Given the description of an element on the screen output the (x, y) to click on. 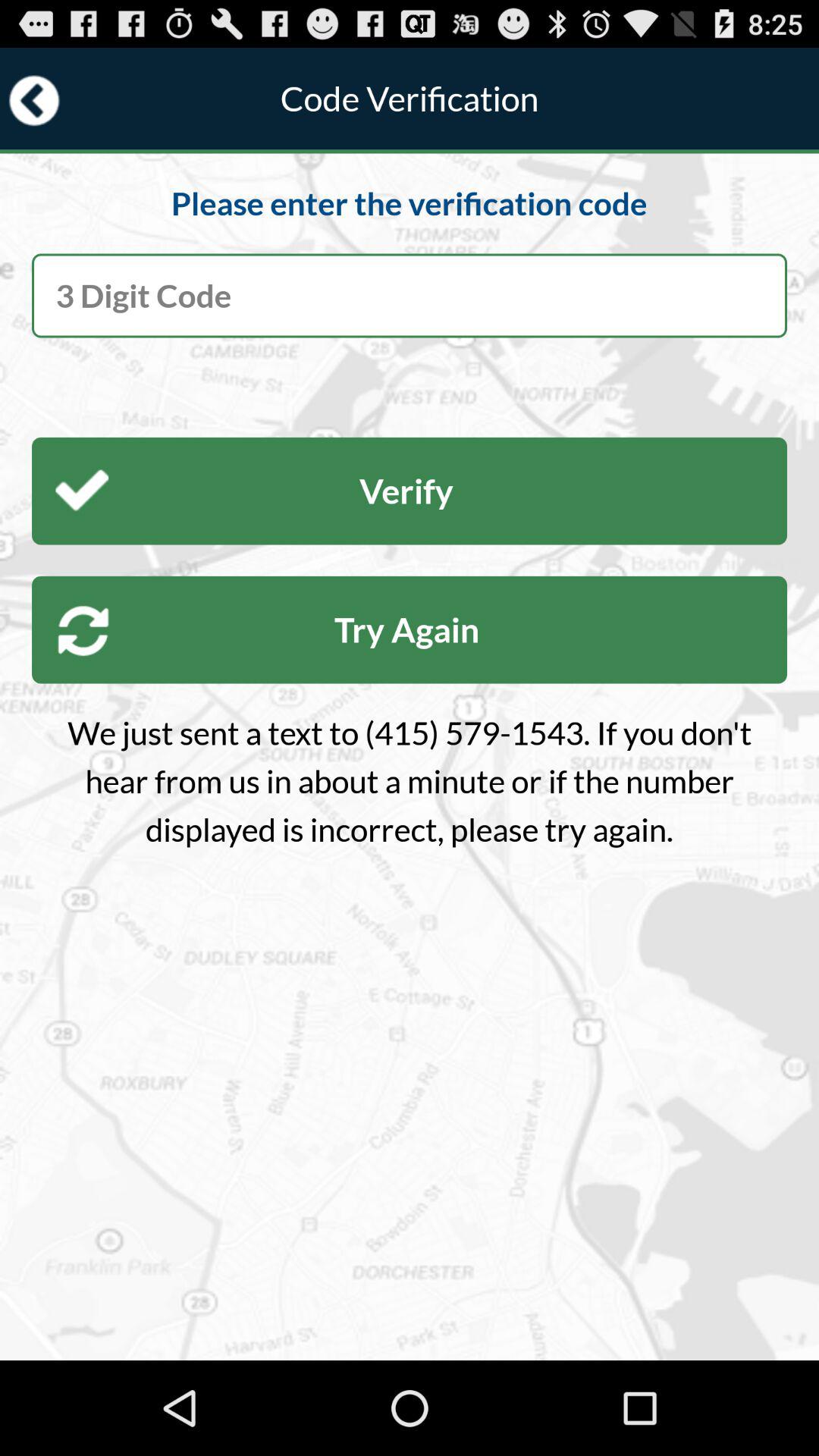
choose the item at the top left corner (34, 100)
